Given the description of an element on the screen output the (x, y) to click on. 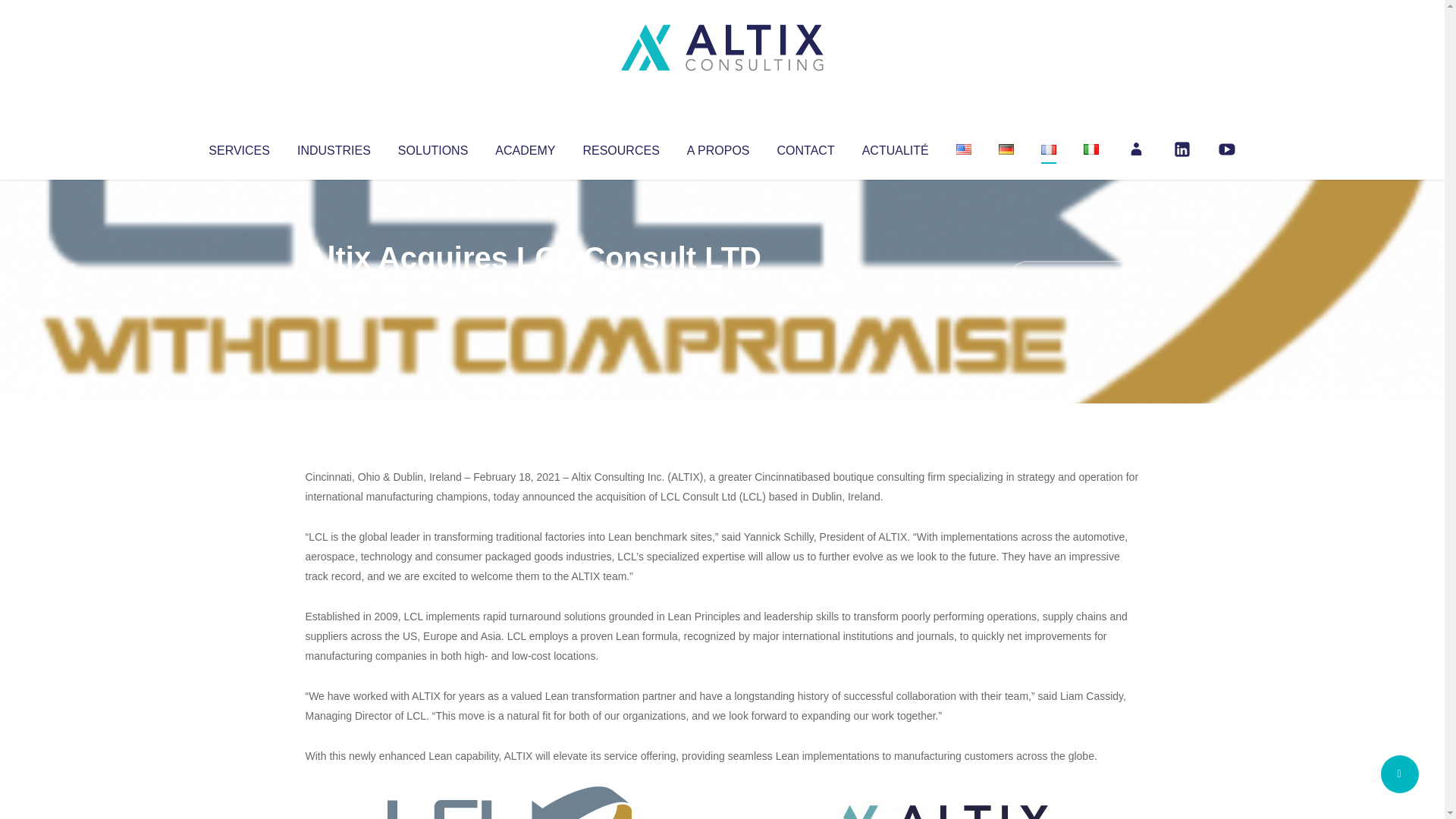
Uncategorized (530, 287)
RESOURCES (620, 146)
ACADEMY (524, 146)
SOLUTIONS (432, 146)
No Comments (1073, 278)
Altix (333, 287)
A PROPOS (718, 146)
INDUSTRIES (334, 146)
SERVICES (238, 146)
Articles par Altix (333, 287)
